Given the description of an element on the screen output the (x, y) to click on. 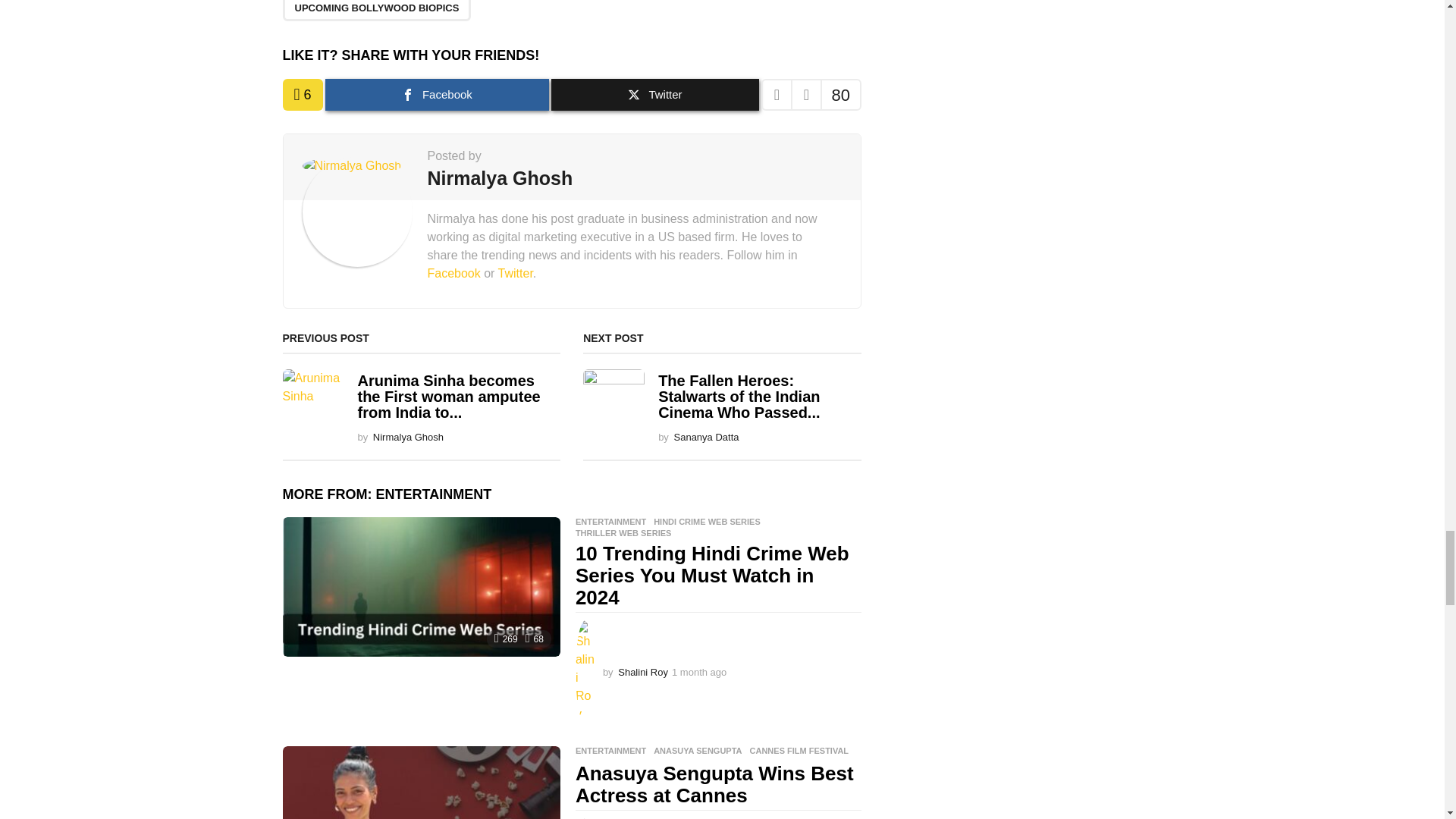
10 Trending Hindi Crime Web Series You Must Watch in 2024 (420, 586)
Anasuya Sengupta Wins Best Actress at Cannes (420, 782)
